Given the description of an element on the screen output the (x, y) to click on. 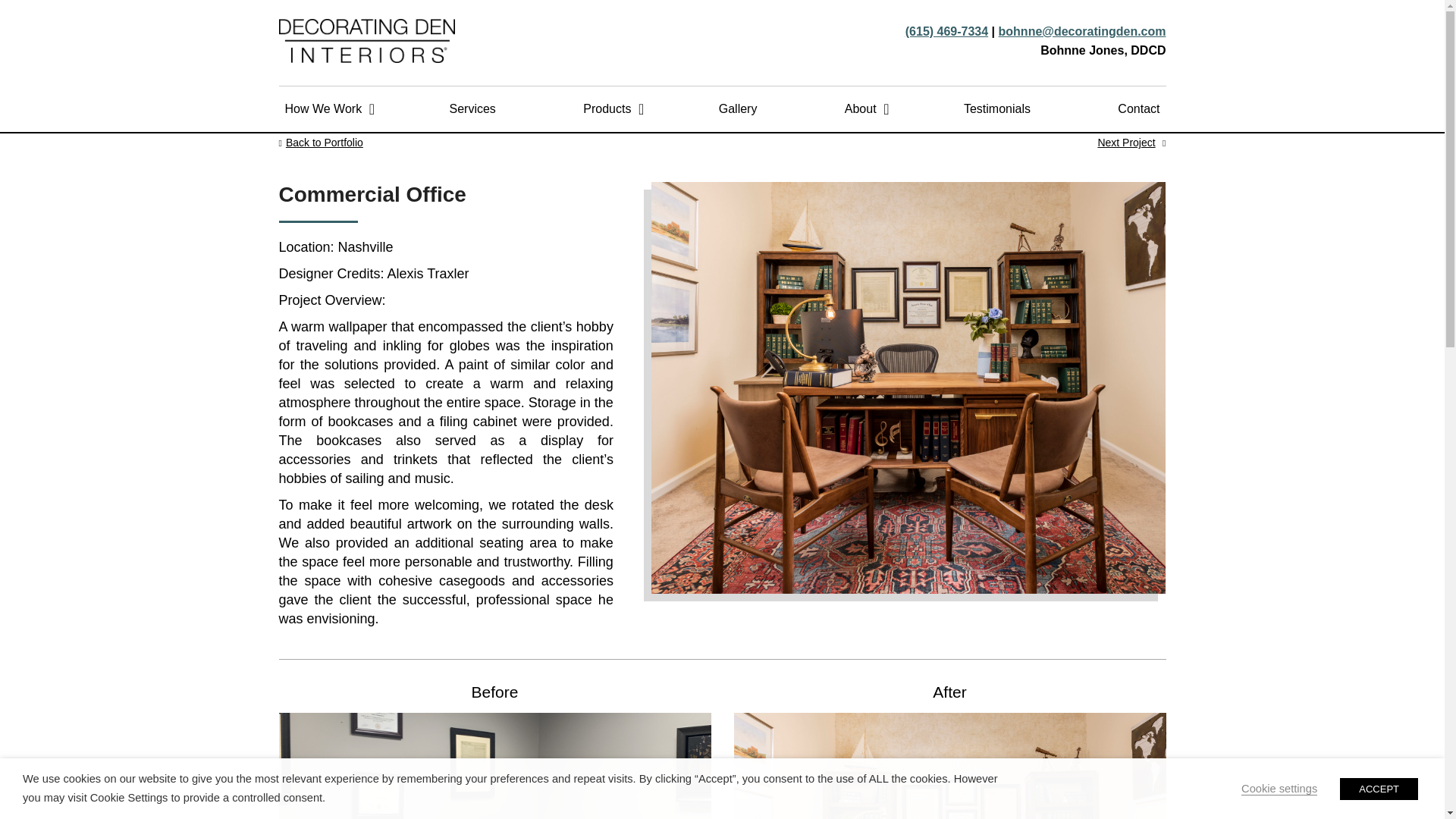
How We Work (323, 109)
Products (606, 109)
Contact (1139, 109)
Gallery (737, 109)
Testimonials (997, 109)
Next Project (1125, 142)
Back to Portfolio (323, 142)
Services (473, 109)
About (860, 109)
